Given the description of an element on the screen output the (x, y) to click on. 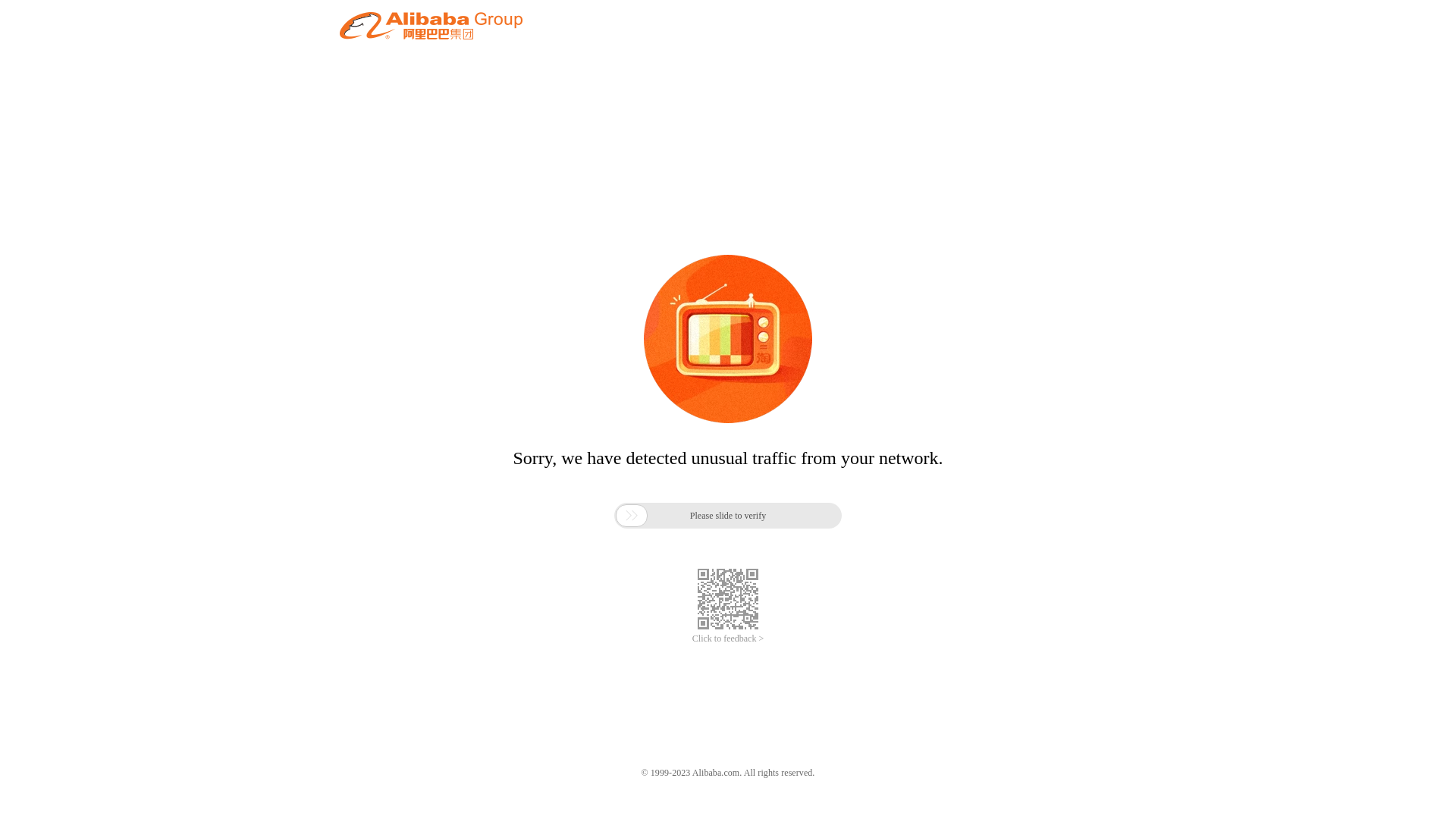
Click to feedback > Element type: text (727, 638)
